Given the description of an element on the screen output the (x, y) to click on. 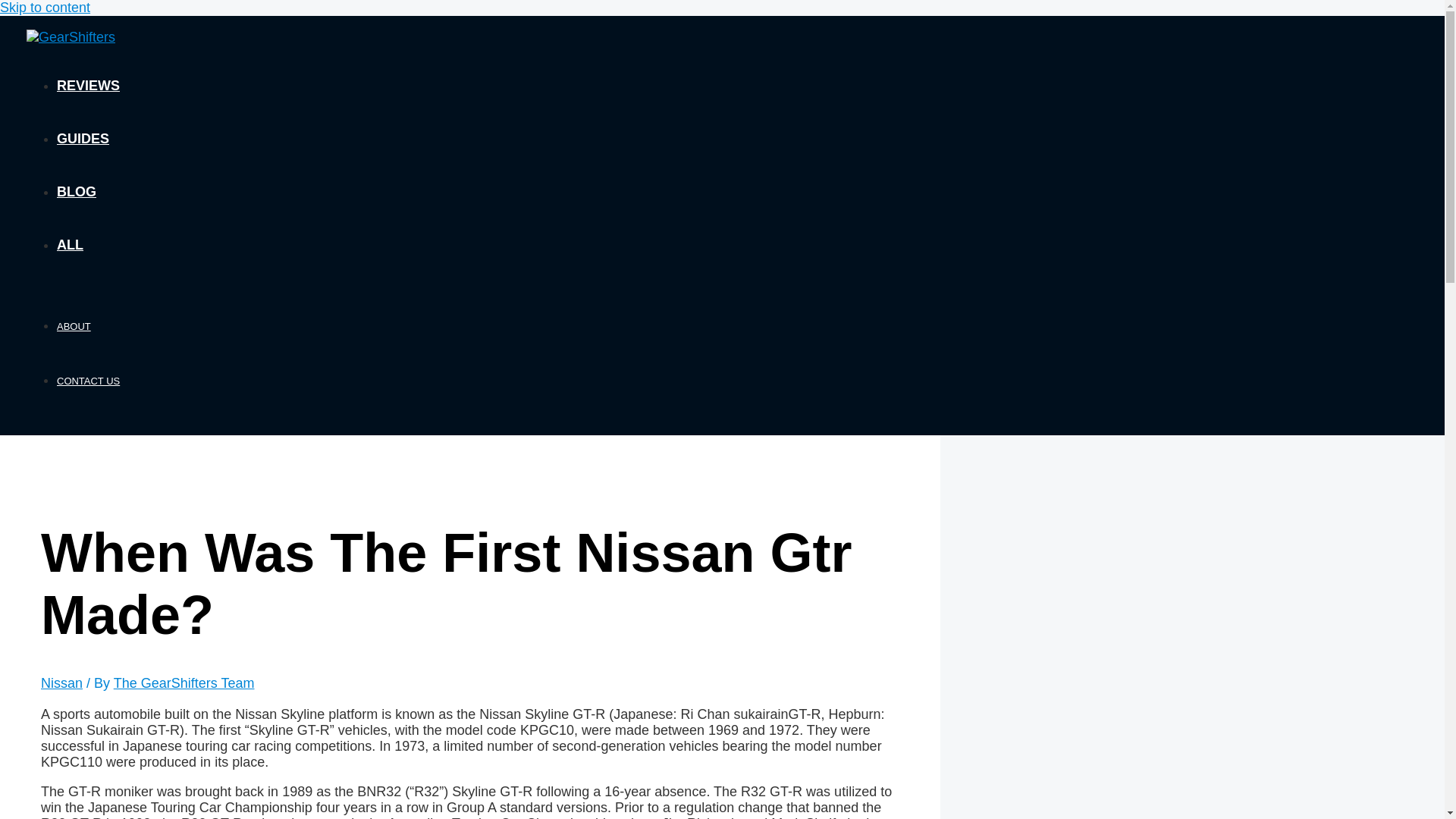
The GearShifters Team (183, 683)
Skip to content (45, 7)
BLOG (76, 191)
CONTACT US (87, 380)
ABOUT (73, 326)
Skip to content (45, 7)
View all posts by The GearShifters Team (183, 683)
Nissan (61, 683)
GUIDES (82, 138)
REVIEWS (87, 85)
